Given the description of an element on the screen output the (x, y) to click on. 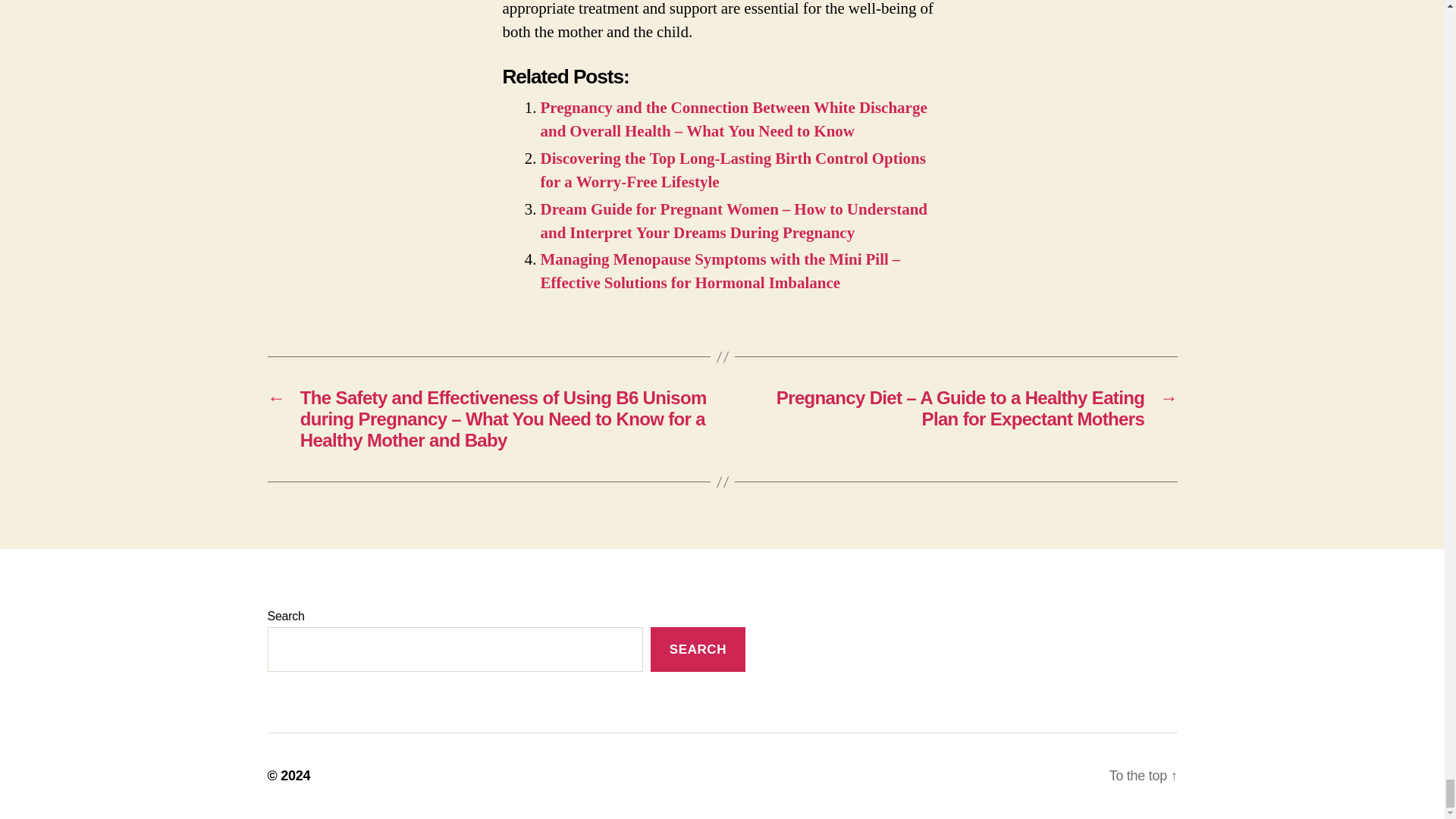
SEARCH (697, 649)
